Given the description of an element on the screen output the (x, y) to click on. 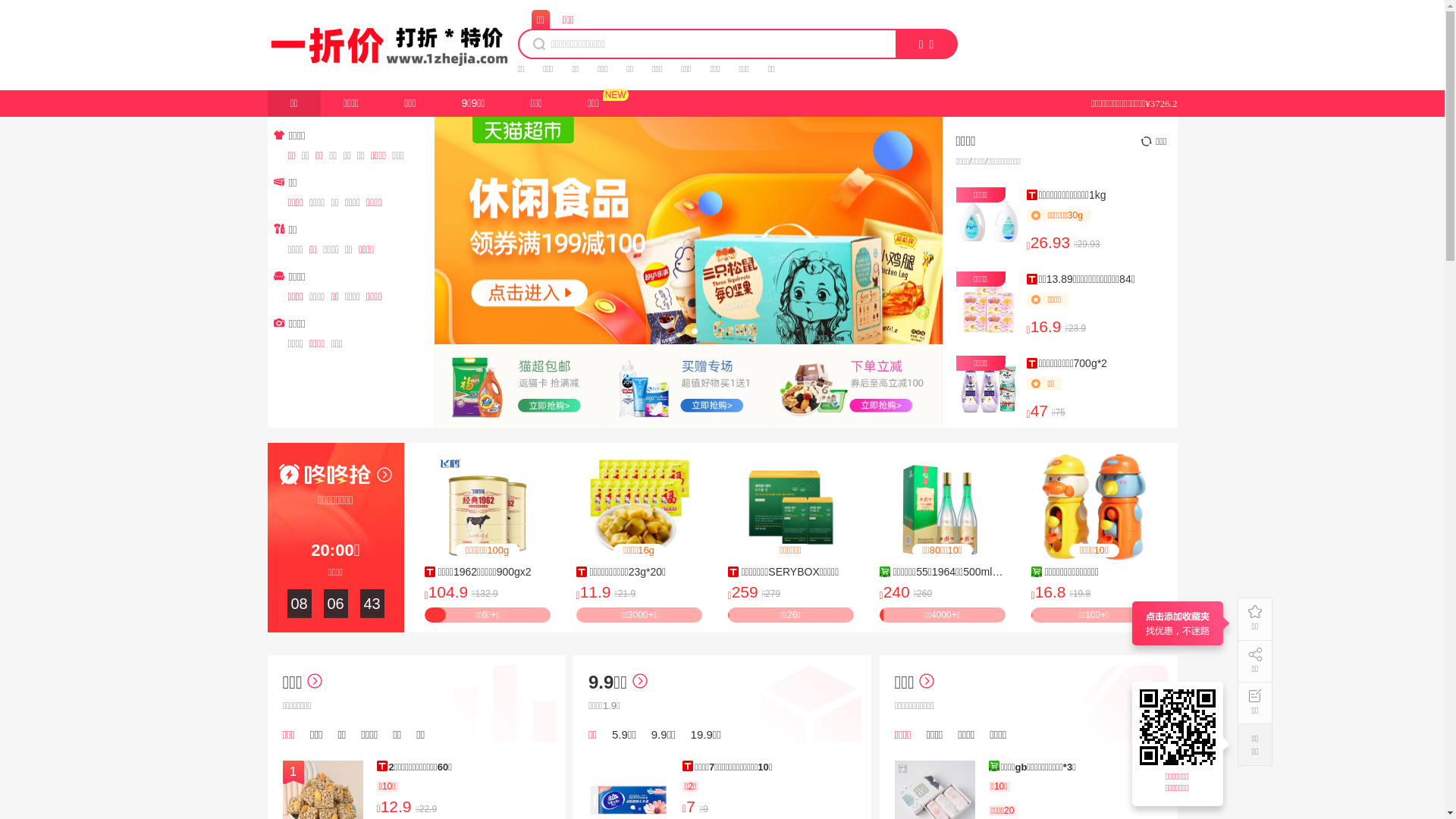
http://1zhejia.com Element type: hover (1179, 727)
